Given the description of an element on the screen output the (x, y) to click on. 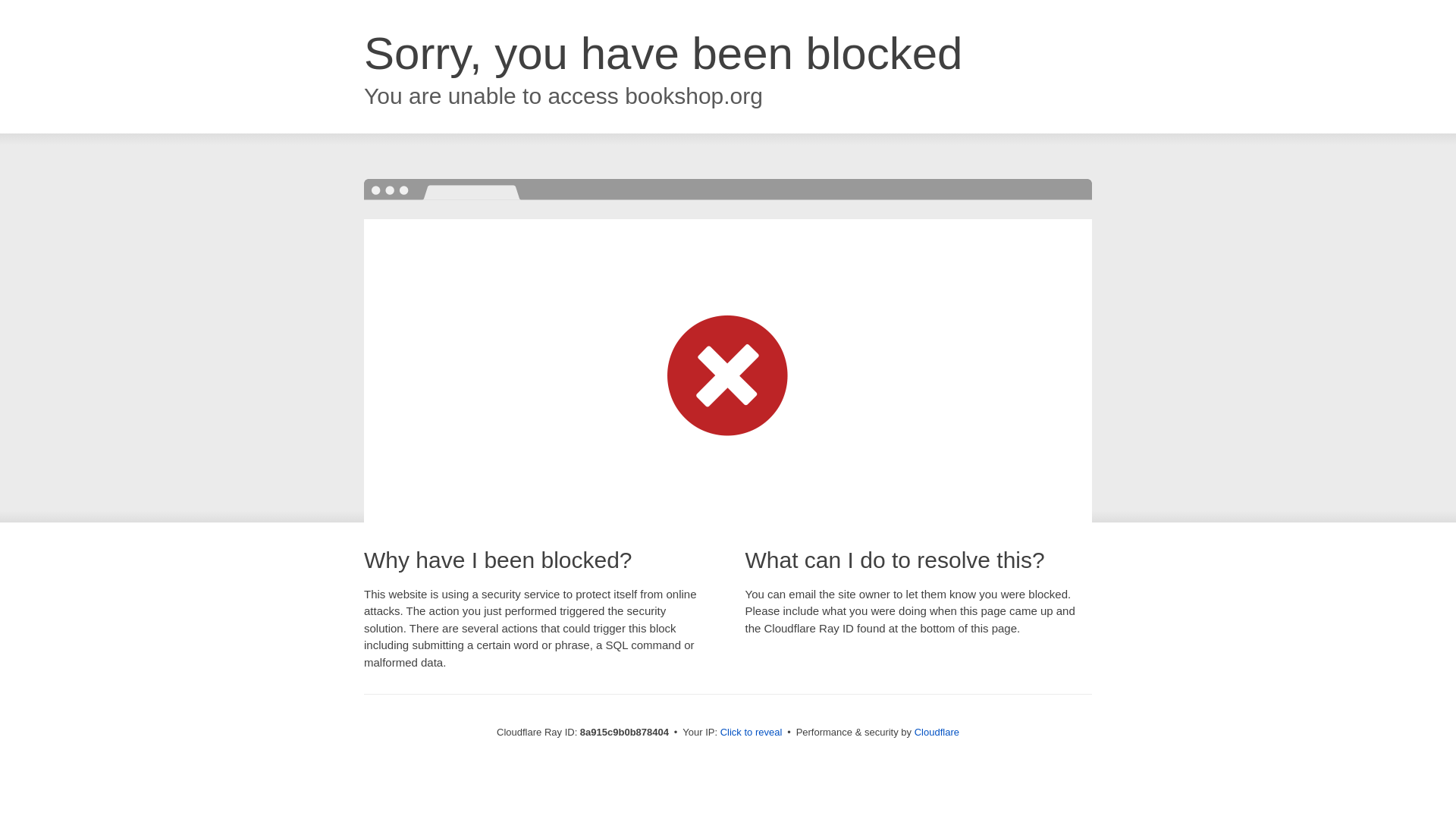
Cloudflare (936, 731)
Click to reveal (751, 732)
